Given the description of an element on the screen output the (x, y) to click on. 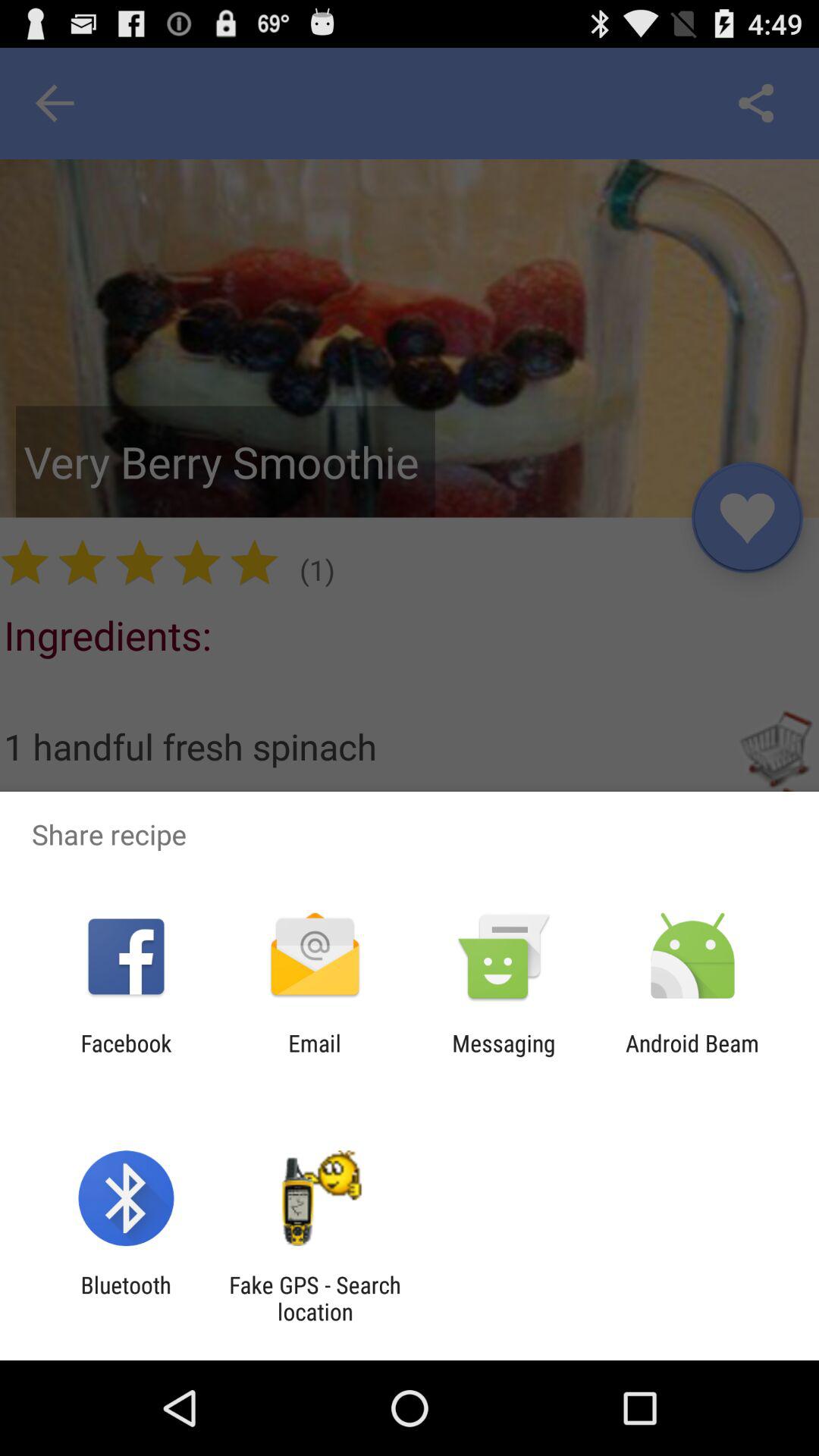
launch app next to bluetooth icon (314, 1298)
